Given the description of an element on the screen output the (x, y) to click on. 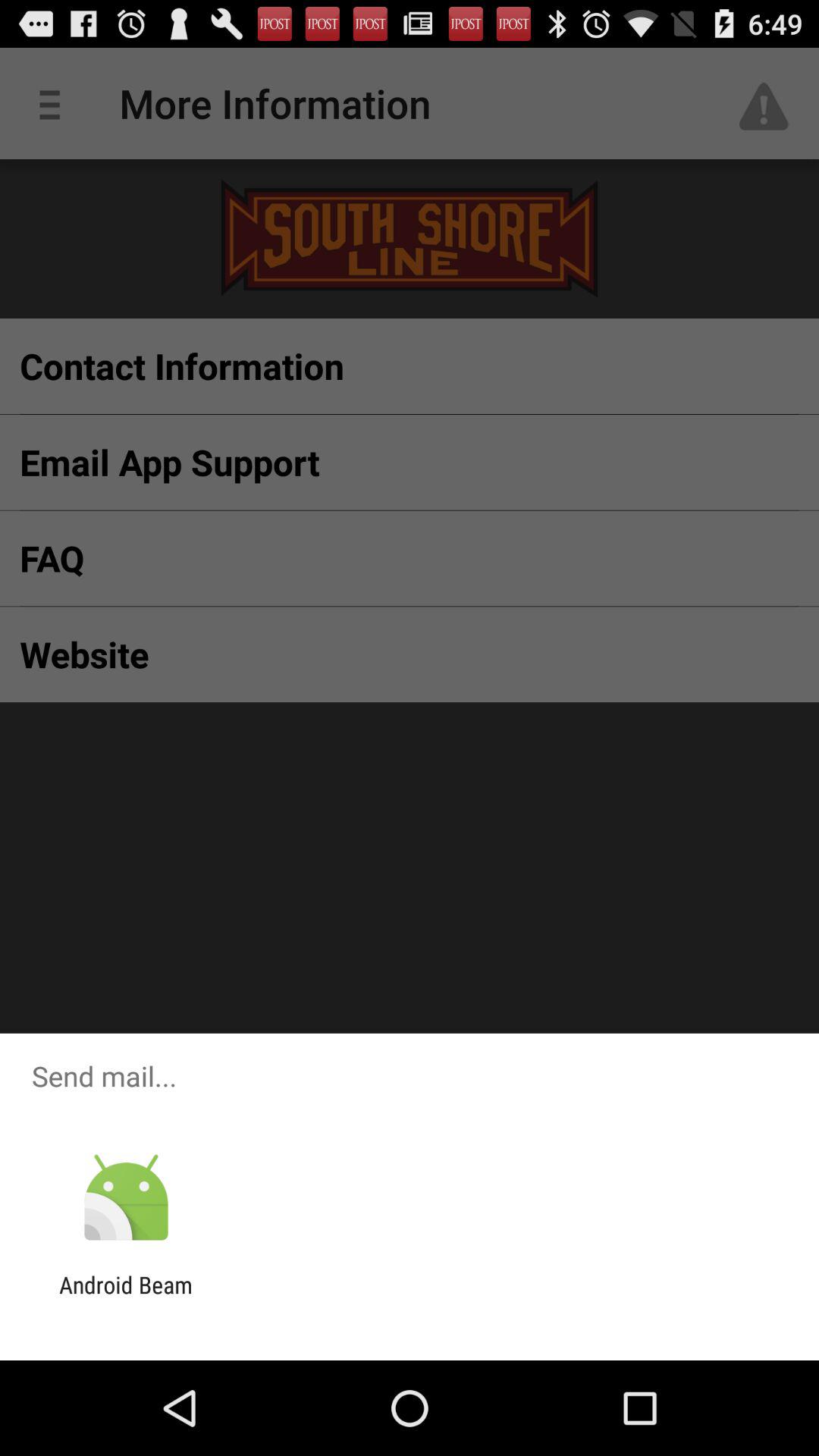
tap android beam item (125, 1298)
